Given the description of an element on the screen output the (x, y) to click on. 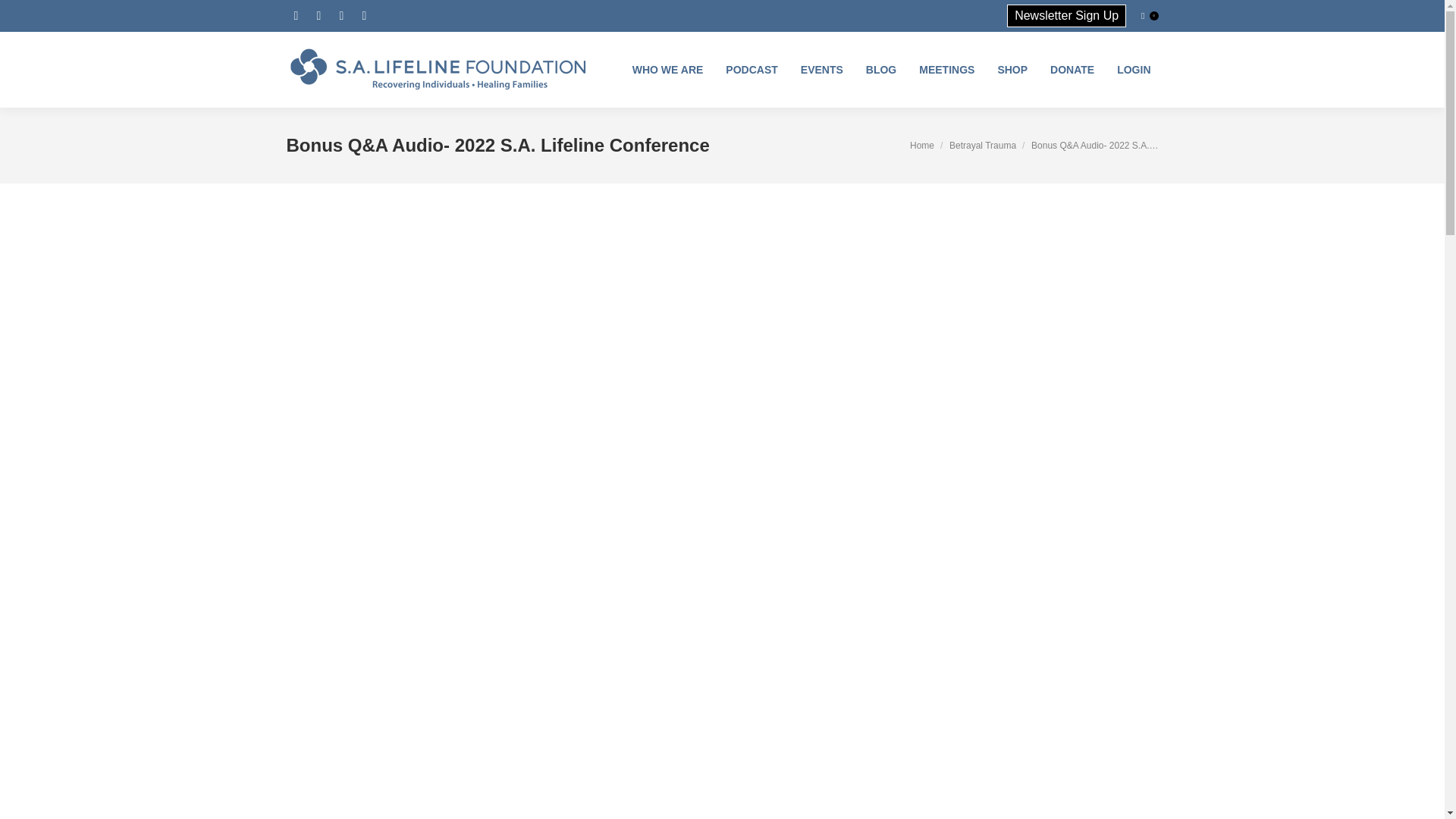
Newsletter Sign Up (1066, 15)
 0 (1149, 15)
PODCAST (750, 69)
Instagram page opens in new window (318, 15)
Facebook page opens in new window (295, 15)
Mail page opens in new window (364, 15)
BLOG (881, 69)
WHO WE ARE (667, 69)
Betrayal Trauma (982, 145)
SHOP (1012, 69)
Facebook page opens in new window (295, 15)
Home (922, 145)
LOGIN (1133, 69)
EVENTS (821, 69)
YouTube page opens in new window (341, 15)
